Given the description of an element on the screen output the (x, y) to click on. 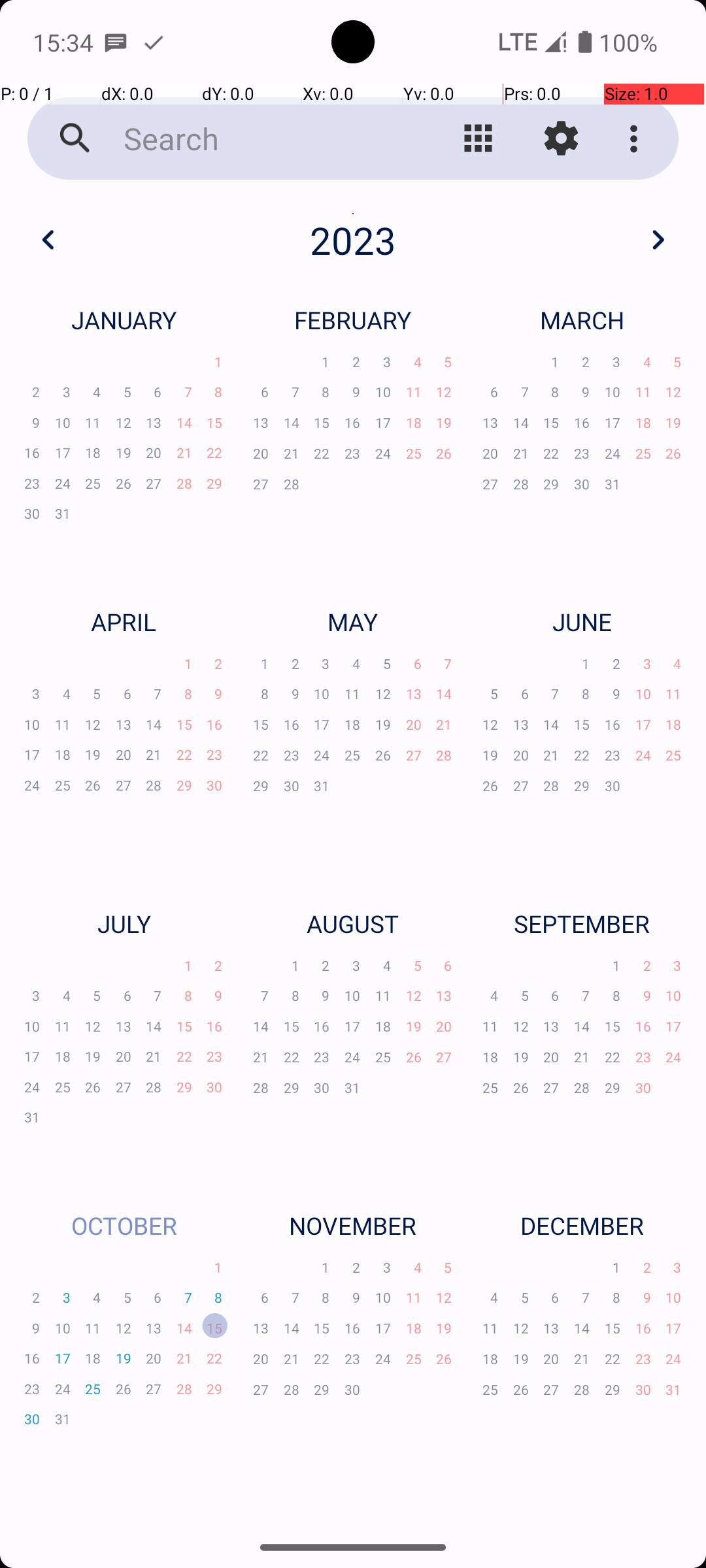
JANUARY Element type: android.widget.TextView (123, 319)
FEBRUARY Element type: android.widget.TextView (352, 319)
MARCH Element type: android.widget.TextView (582, 319)
APRIL Element type: android.widget.TextView (123, 621)
MAY Element type: android.widget.TextView (352, 621)
JUNE Element type: android.widget.TextView (582, 621)
JULY Element type: android.widget.TextView (123, 923)
AUGUST Element type: android.widget.TextView (352, 923)
SEPTEMBER Element type: android.widget.TextView (582, 923)
NOVEMBER Element type: android.widget.TextView (352, 1224)
DECEMBER Element type: android.widget.TextView (582, 1224)
